Given the description of an element on the screen output the (x, y) to click on. 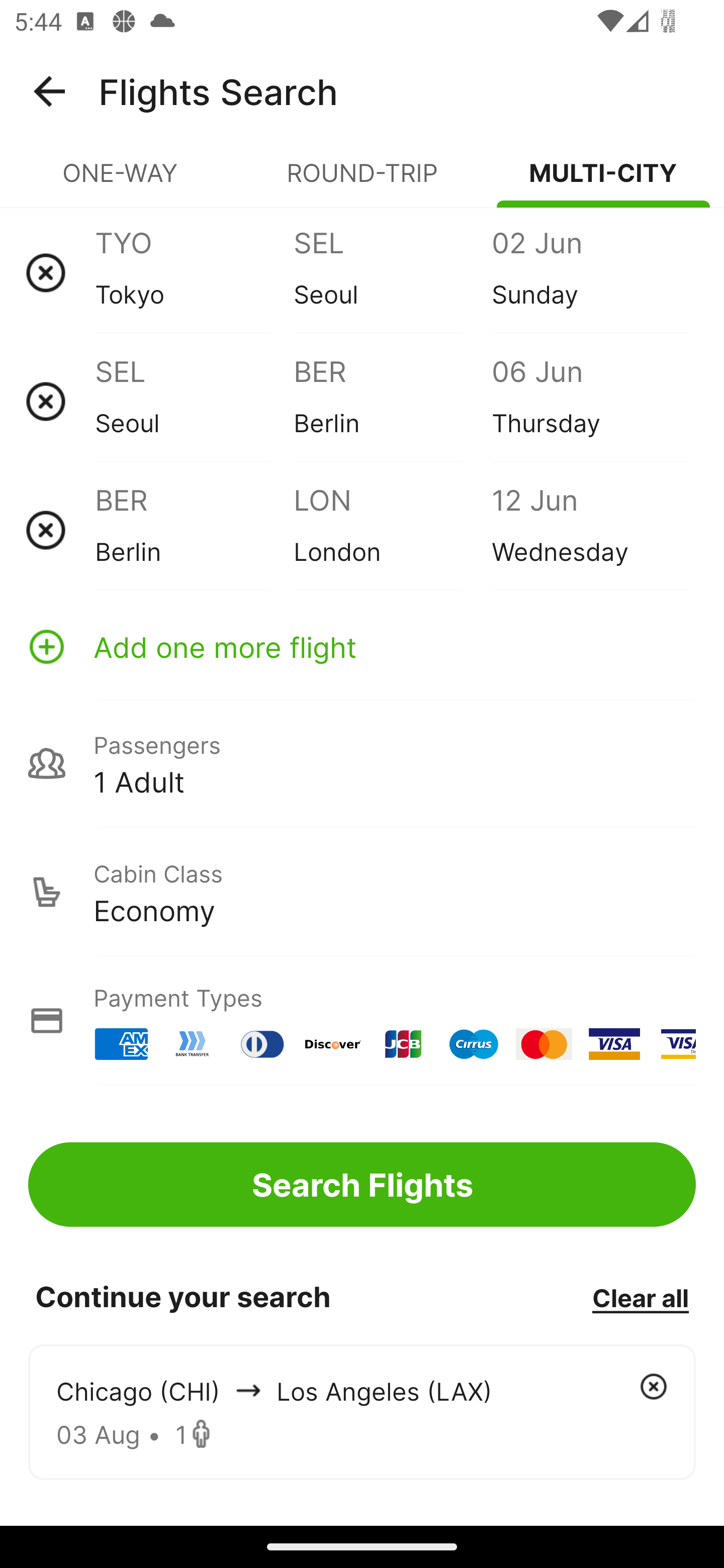
ONE-WAY (120, 180)
ROUND-TRIP (361, 180)
MULTI-CITY (603, 180)
TYO Tokyo (193, 272)
SEL Seoul (392, 272)
02 Jun Sunday (590, 272)
SEL Seoul (193, 401)
BER Berlin (392, 401)
06 Jun Thursday (590, 401)
BER Berlin (193, 529)
LON London (392, 529)
12 Jun Wednesday (590, 529)
Add one more flight (362, 646)
Passengers 1 Adult (362, 762)
Cabin Class Economy (362, 891)
Payment Types (362, 1020)
Search Flights (361, 1184)
Clear all (640, 1297)
